Given the description of an element on the screen output the (x, y) to click on. 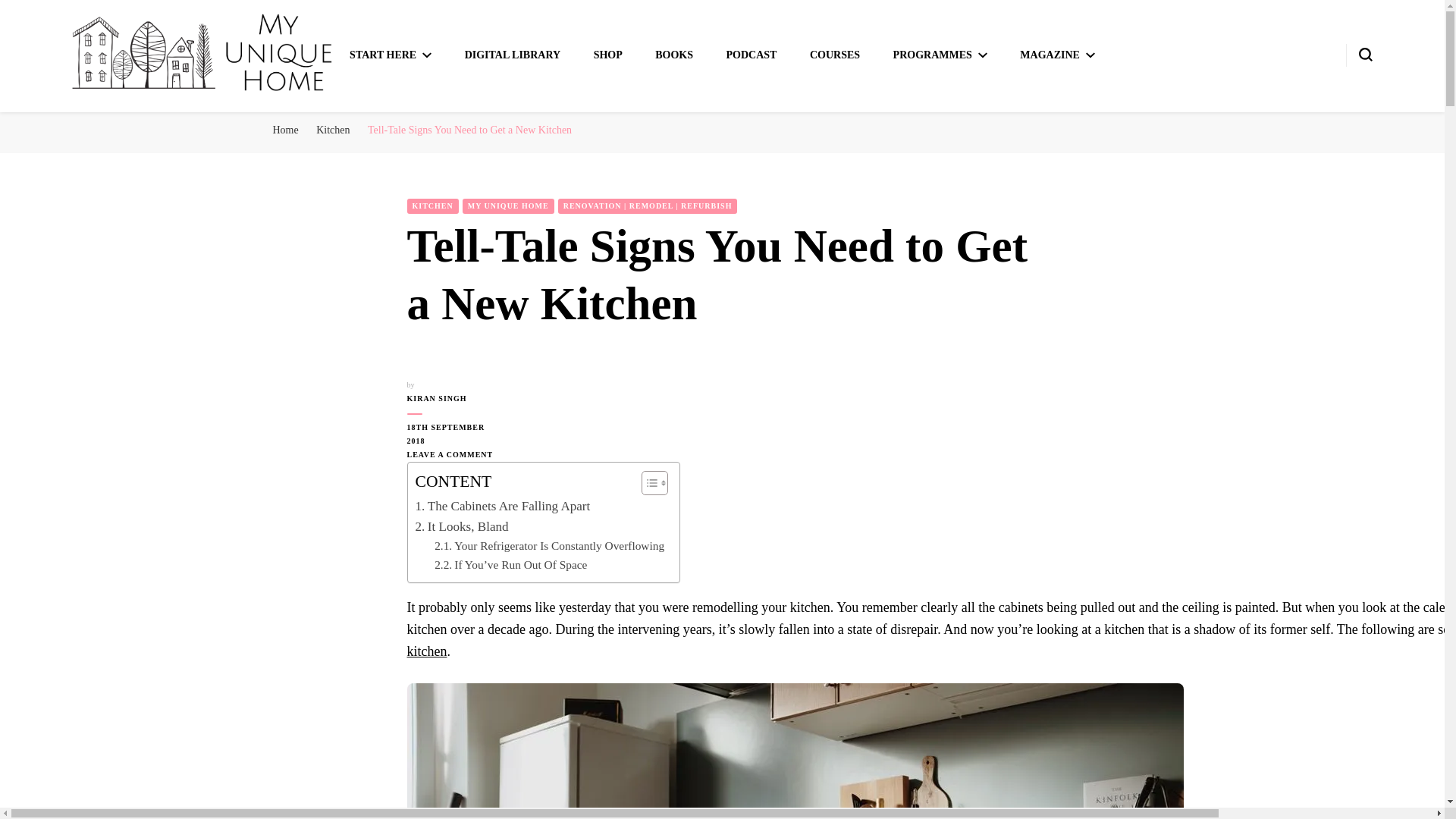
The Cabinets Are Falling Apart (502, 506)
It Looks, Bland (461, 526)
Your Refrigerator Is Constantly Overflowing (548, 546)
